Given the description of an element on the screen output the (x, y) to click on. 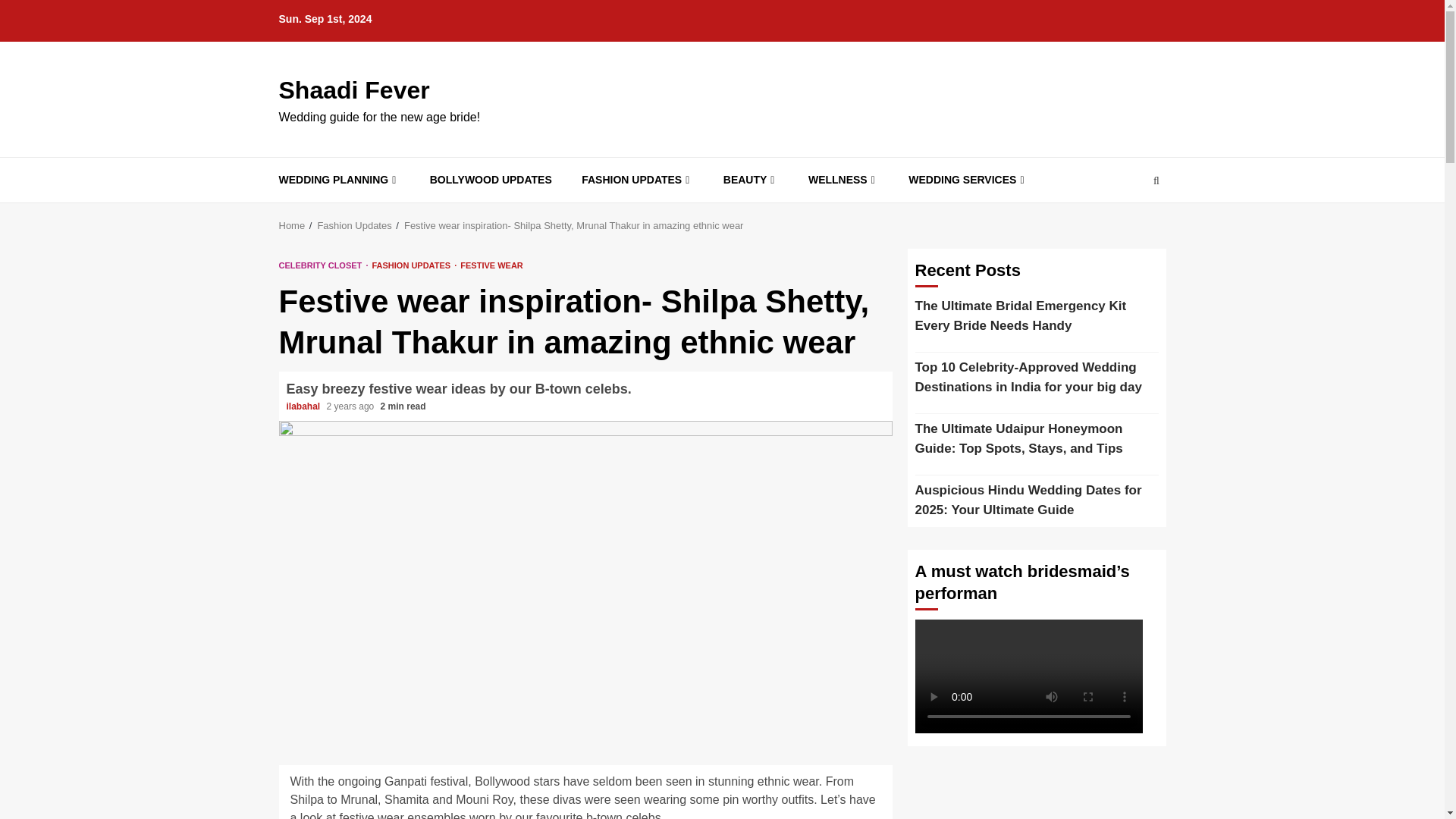
CELEBRITY CLOSET (323, 265)
Fashion Updates (354, 225)
FASHION UPDATES (414, 265)
WEDDING SERVICES (967, 179)
FESTIVE WEAR (491, 265)
ilabahal (304, 406)
WEDDING PLANNING (339, 179)
Shaadi Fever (354, 90)
WELLNESS (843, 179)
